Given the description of an element on the screen output the (x, y) to click on. 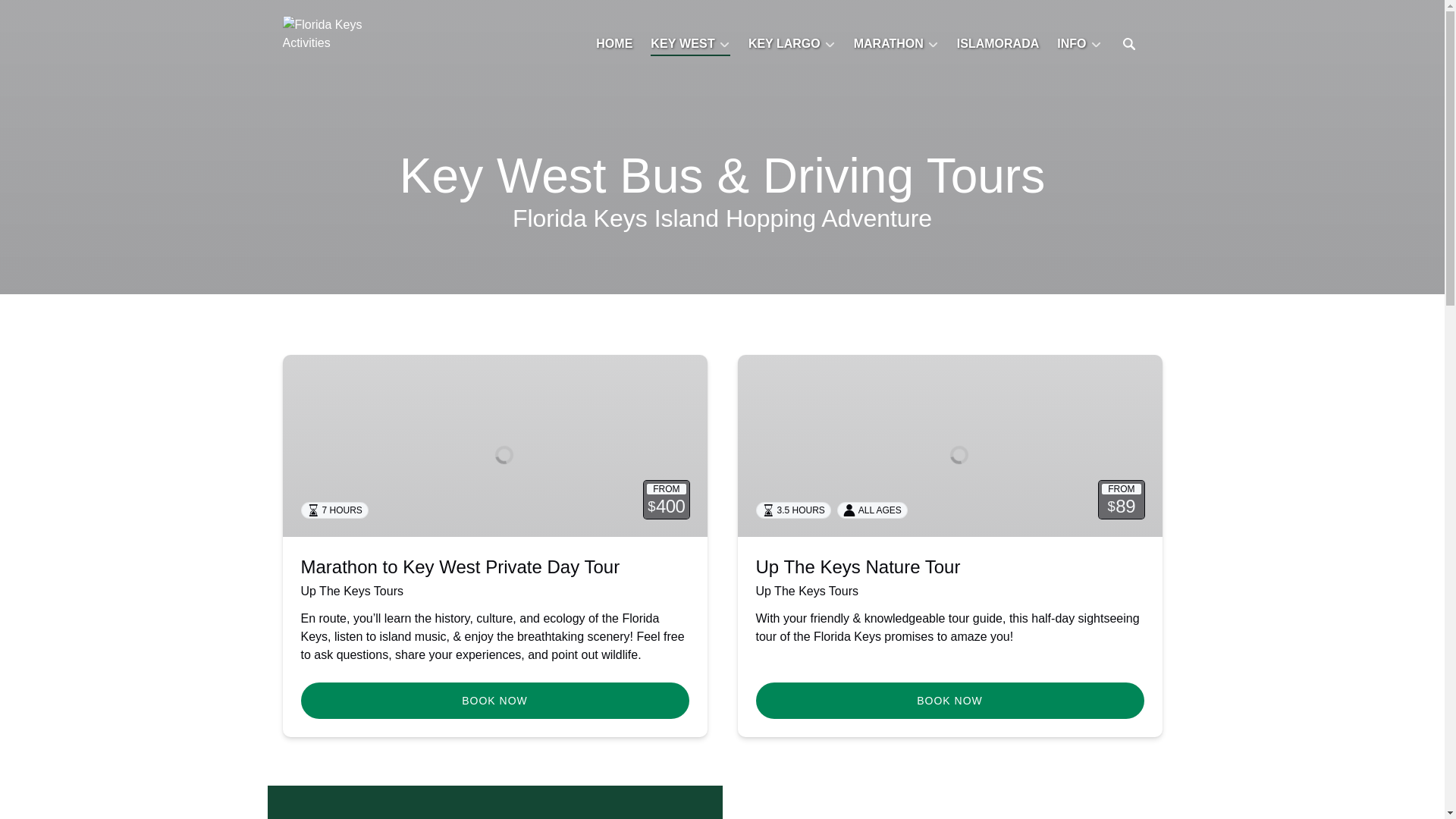
Skip to primary navigation (77, 16)
Open Info Menu (1082, 39)
Skip to footer (42, 16)
MARATHON (895, 43)
KEY LARGO (791, 43)
Open Key West Menu (694, 39)
Open Marathon Menu (899, 39)
ISLAMORADA (997, 43)
Open Key Largo Menu (795, 39)
KEY WEST (690, 43)
